Given the description of an element on the screen output the (x, y) to click on. 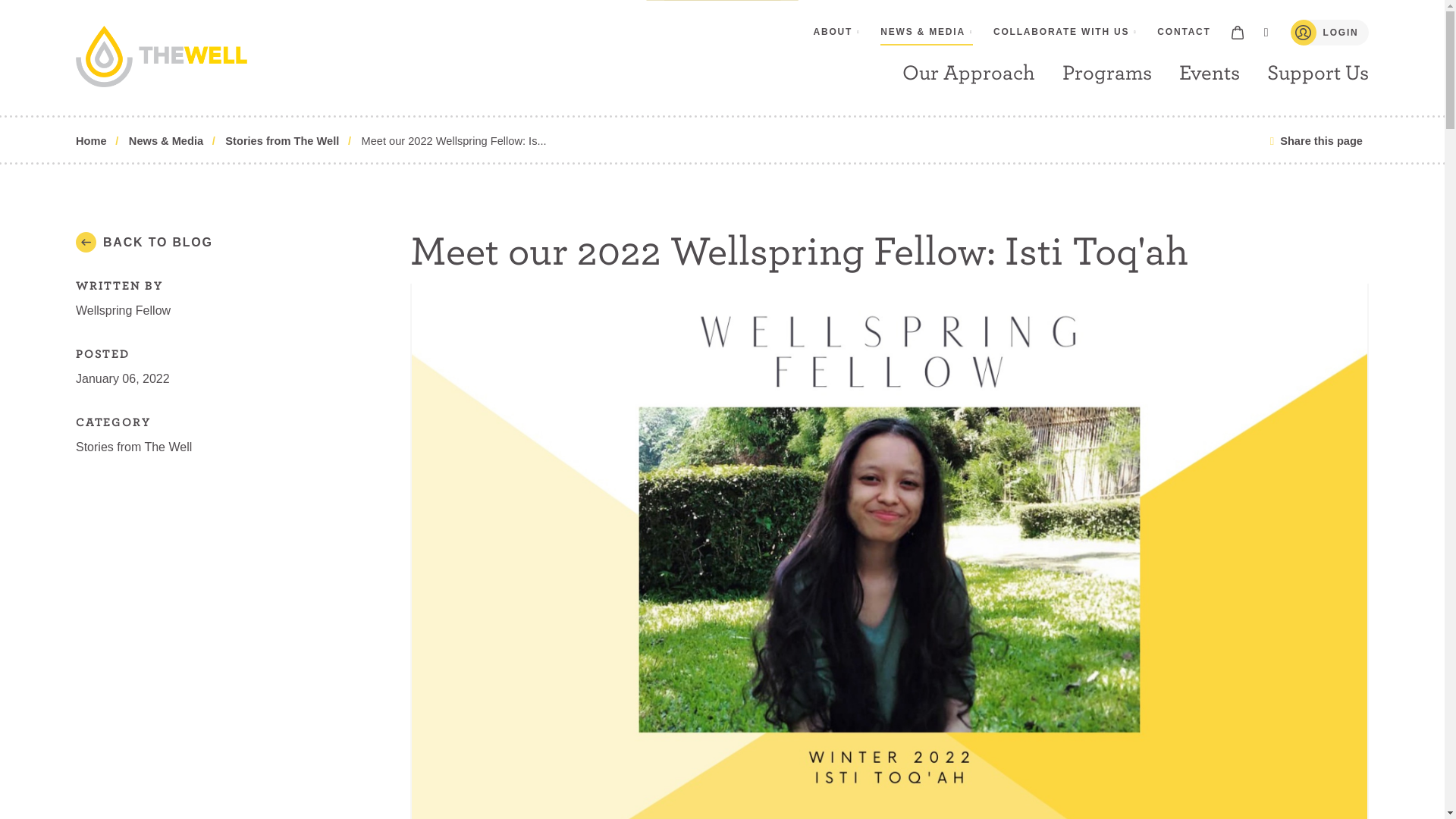
CONTACT (1183, 31)
ABOUT (836, 31)
COLLABORATE WITH US (1064, 31)
LOGIN (1330, 32)
Our Approach (968, 72)
View Cart (1237, 32)
